Given the description of an element on the screen output the (x, y) to click on. 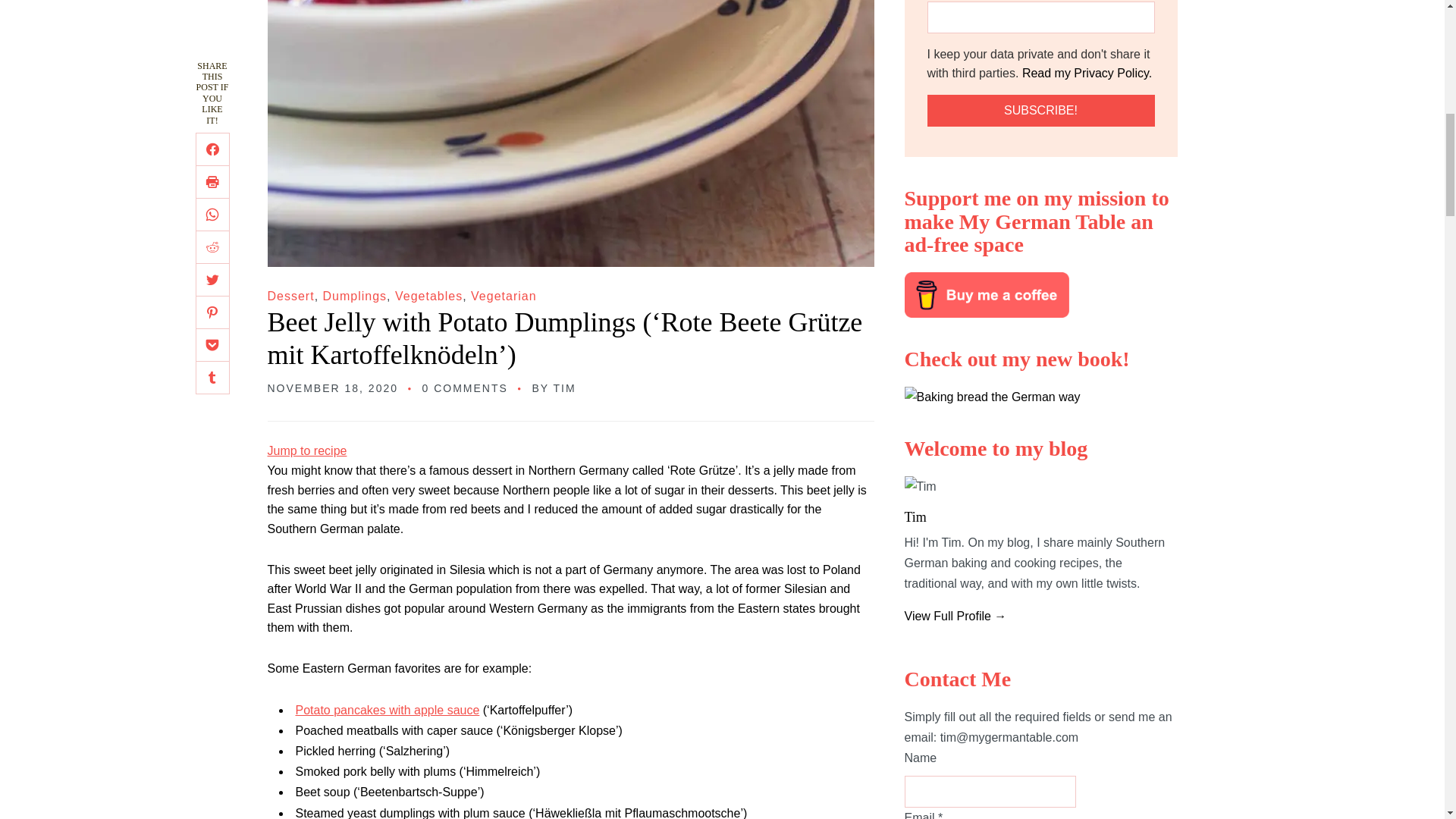
Subscribe! (1040, 110)
Jump to recipe (306, 450)
Vegetables (428, 295)
Vegetarian (503, 295)
0 COMMENTS (465, 387)
Dessert (290, 295)
TIM (564, 387)
Dumplings (355, 295)
